Given the description of an element on the screen output the (x, y) to click on. 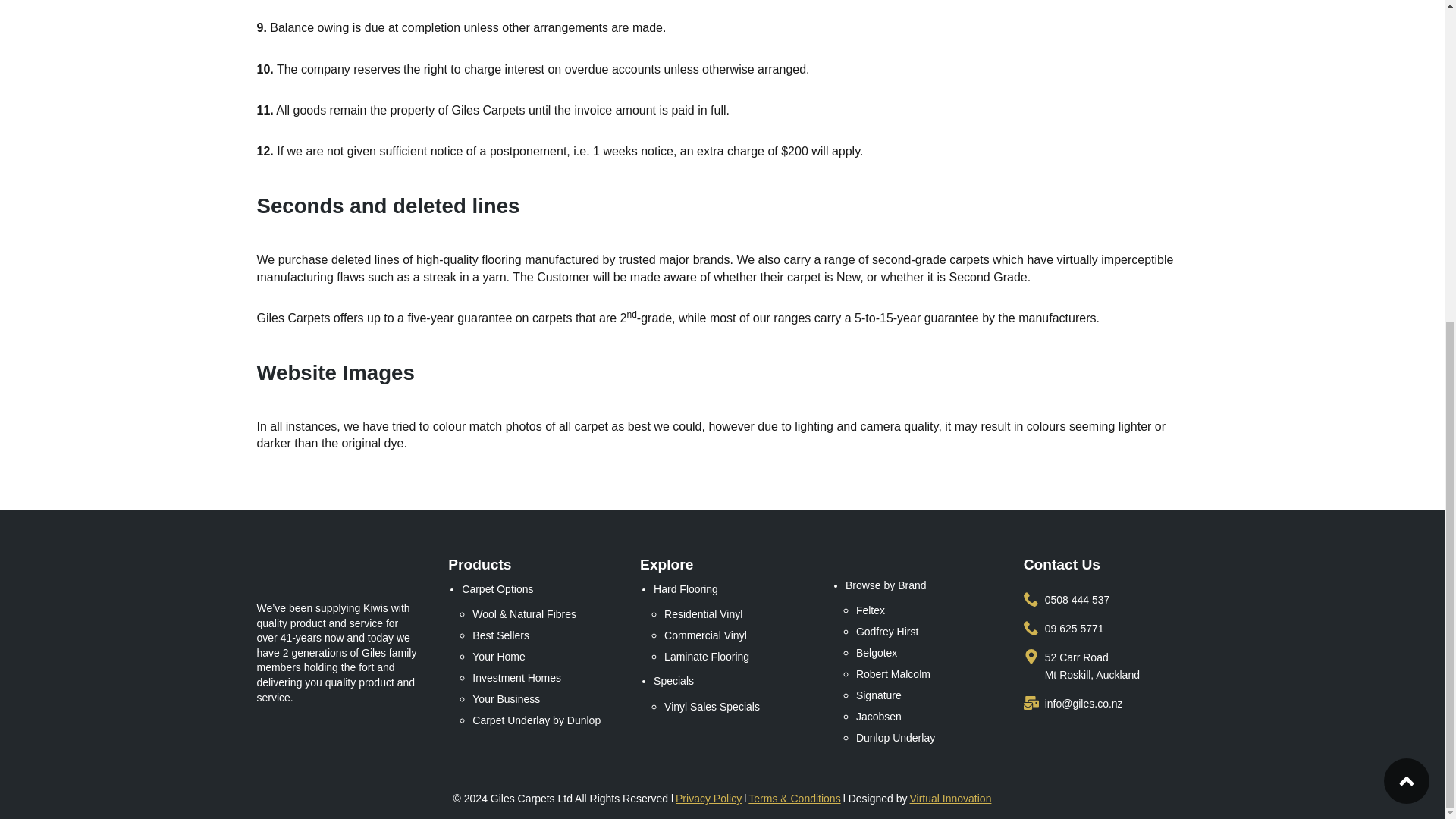
Carpet Underlay by Dunlop (541, 719)
Your Home (541, 656)
Best Sellers (541, 634)
Investment Homes (541, 677)
Your Business (541, 698)
